Given the description of an element on the screen output the (x, y) to click on. 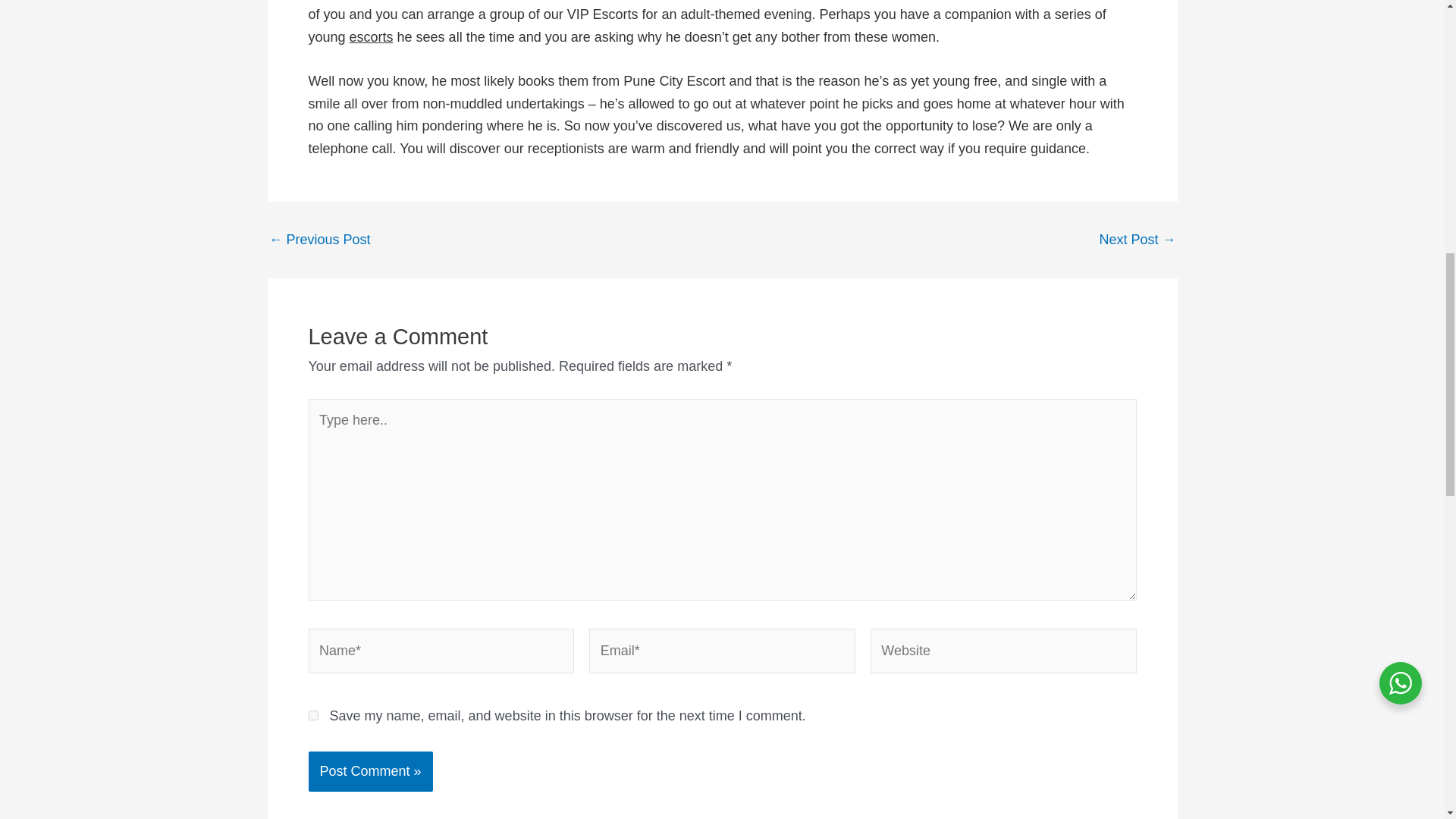
Elite Independent Girls in Pune Booking (318, 239)
escorts (371, 37)
yes (312, 715)
High-Class Pune Independent Escorts Job (1136, 239)
